Given the description of an element on the screen output the (x, y) to click on. 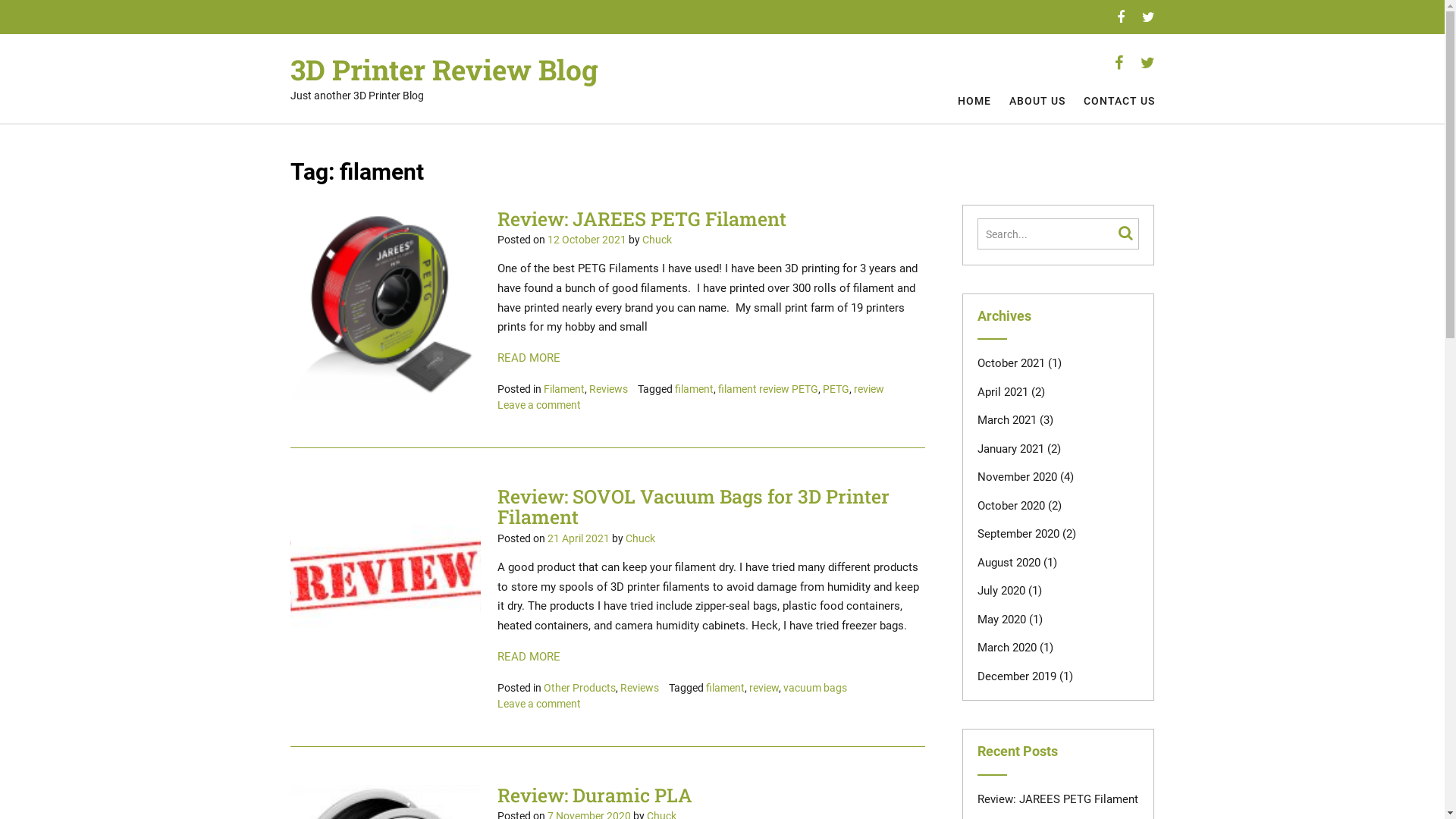
Review: SOVOL Vacuum Bags for 3D Printer Filament Element type: text (693, 506)
Follow us on Twitter Element type: hover (1147, 62)
Filament Element type: text (563, 388)
21 April 2021 Element type: text (578, 538)
filament Element type: text (693, 388)
November 2020 Element type: text (1017, 476)
Find us on Facebook Element type: hover (1119, 16)
Reviews Element type: text (608, 388)
Review: Duramic PLA Element type: text (594, 794)
READ MORE Element type: text (711, 657)
Leave a comment Element type: text (538, 404)
Search for: Element type: hover (1047, 233)
December 2019 Element type: text (1016, 676)
filament review PETG Element type: text (768, 388)
Reviews Element type: text (639, 687)
Follow us on Twitter Element type: hover (1148, 16)
Review: JAREES PETG Filament Element type: text (1057, 799)
ABOUT US Element type: text (1036, 101)
October 2020 Element type: text (1010, 505)
January 2021 Element type: text (1010, 448)
Leave a comment Element type: text (538, 703)
filament Element type: text (725, 687)
September 2020 Element type: text (1018, 533)
May 2020 Element type: text (1001, 619)
March 2020 Element type: text (1006, 647)
April 2021 Element type: text (1002, 391)
Other Products Element type: text (579, 687)
READ MORE Element type: text (711, 358)
August 2020 Element type: text (1008, 562)
July 2020 Element type: text (1001, 590)
review Element type: text (763, 687)
Find us on Facebook Element type: hover (1118, 62)
review Element type: text (868, 388)
vacuum bags Element type: text (815, 687)
HOME Element type: text (973, 101)
March 2021 Element type: text (1006, 419)
Review: JAREES PETG Filament Element type: text (641, 218)
Chuck Element type: text (640, 538)
Chuck Element type: text (656, 239)
CONTACT US Element type: text (1118, 101)
12 October 2021 Element type: text (586, 239)
October 2021 Element type: text (1010, 363)
3D Printer Review Blog Element type: text (443, 69)
PETG Element type: text (835, 388)
